Given the description of an element on the screen output the (x, y) to click on. 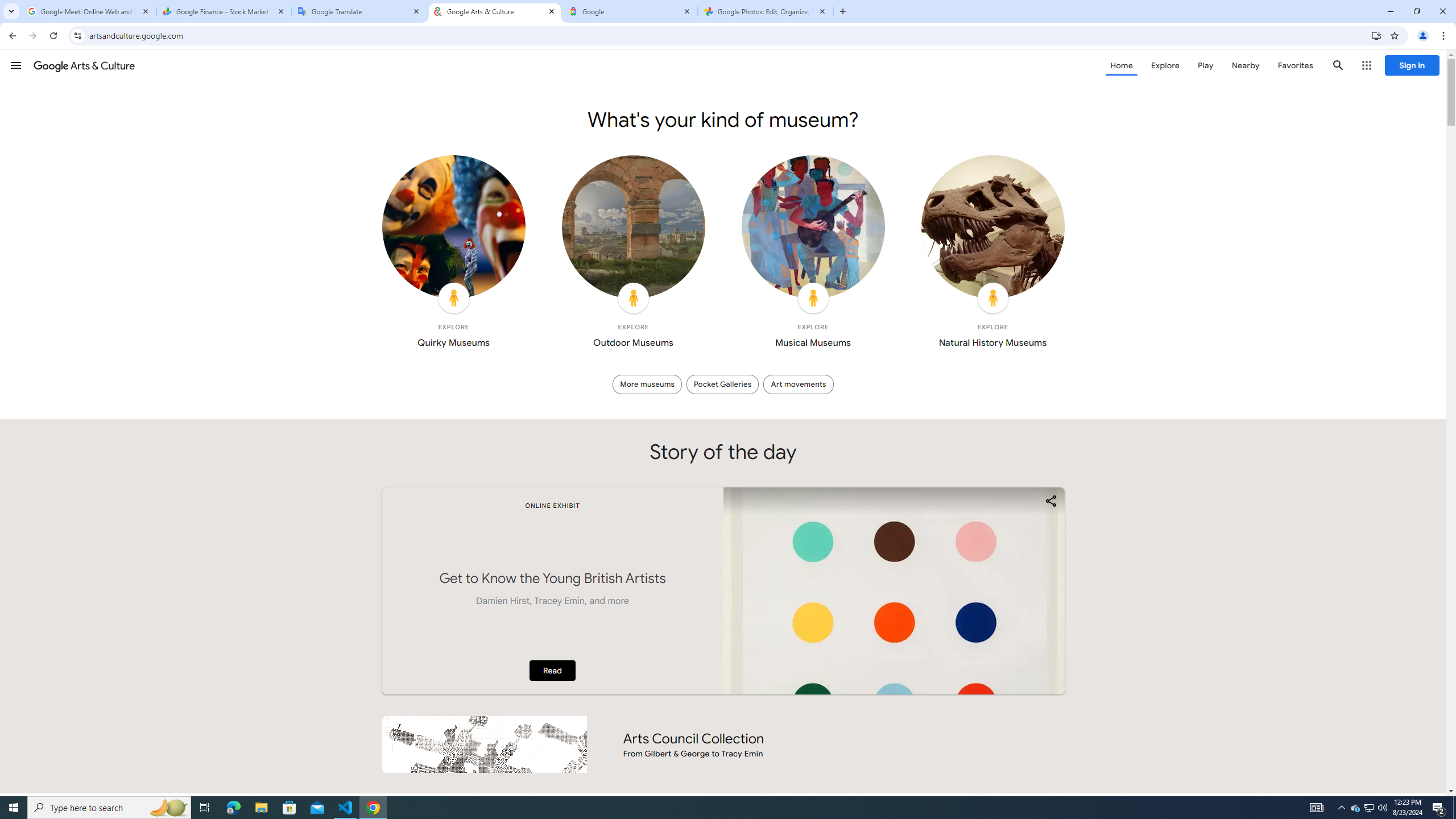
Google (630, 11)
